Given the description of an element on the screen output the (x, y) to click on. 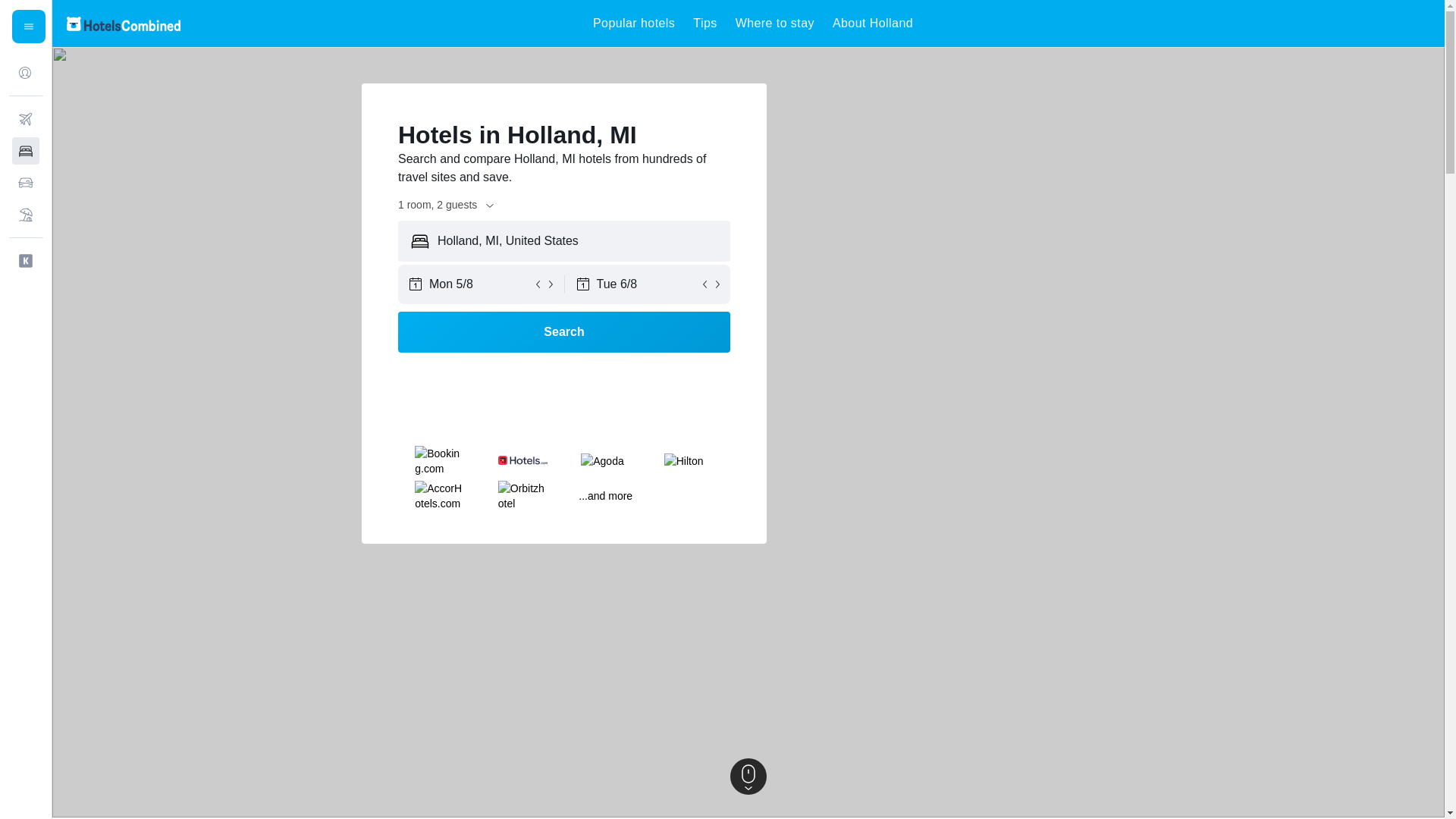
1 room, 2 guests (446, 205)
Search (563, 332)
Search (563, 332)
